Given the description of an element on the screen output the (x, y) to click on. 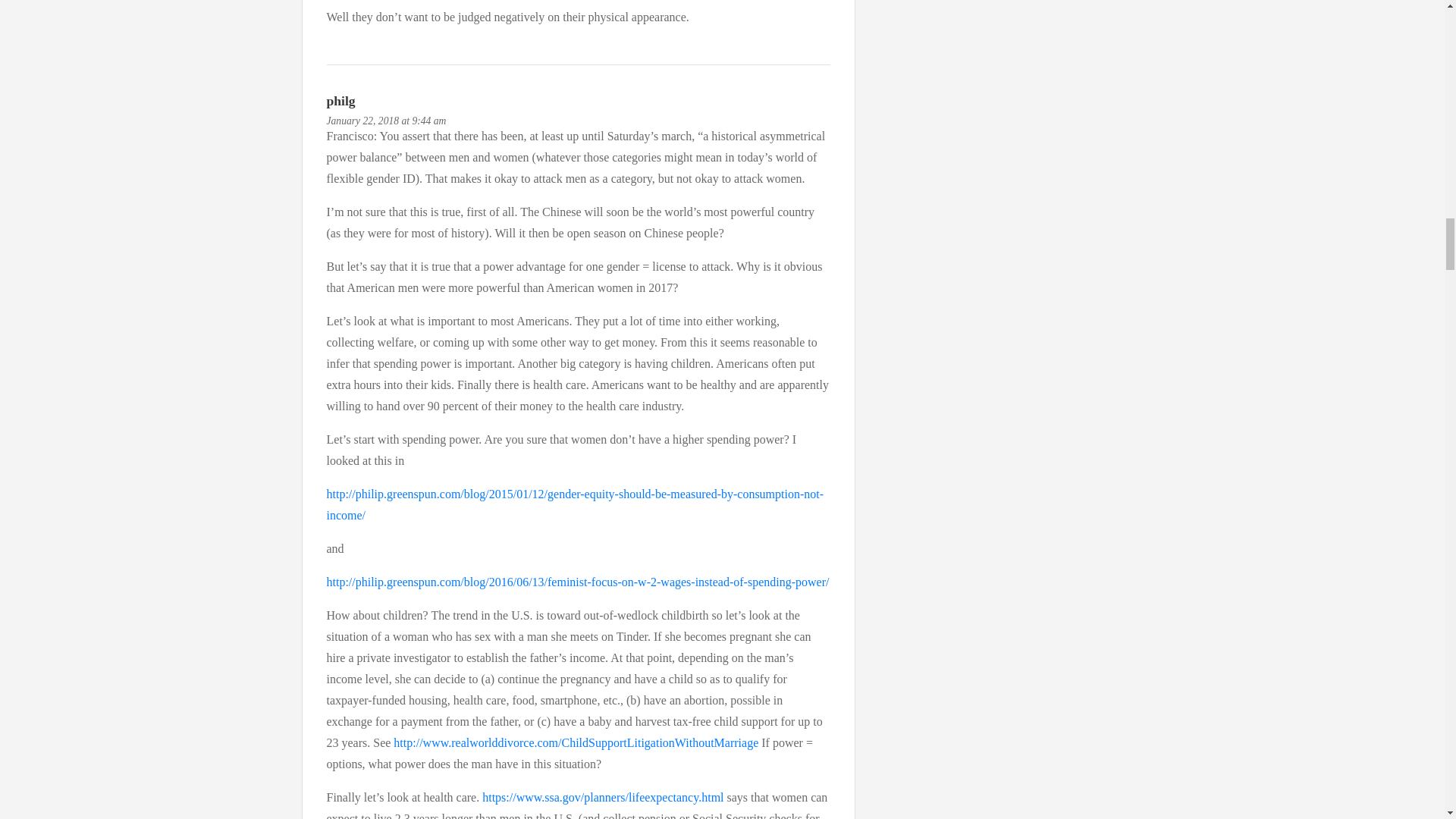
philg (340, 100)
January 22, 2018 at 9:44 am (385, 120)
